Given the description of an element on the screen output the (x, y) to click on. 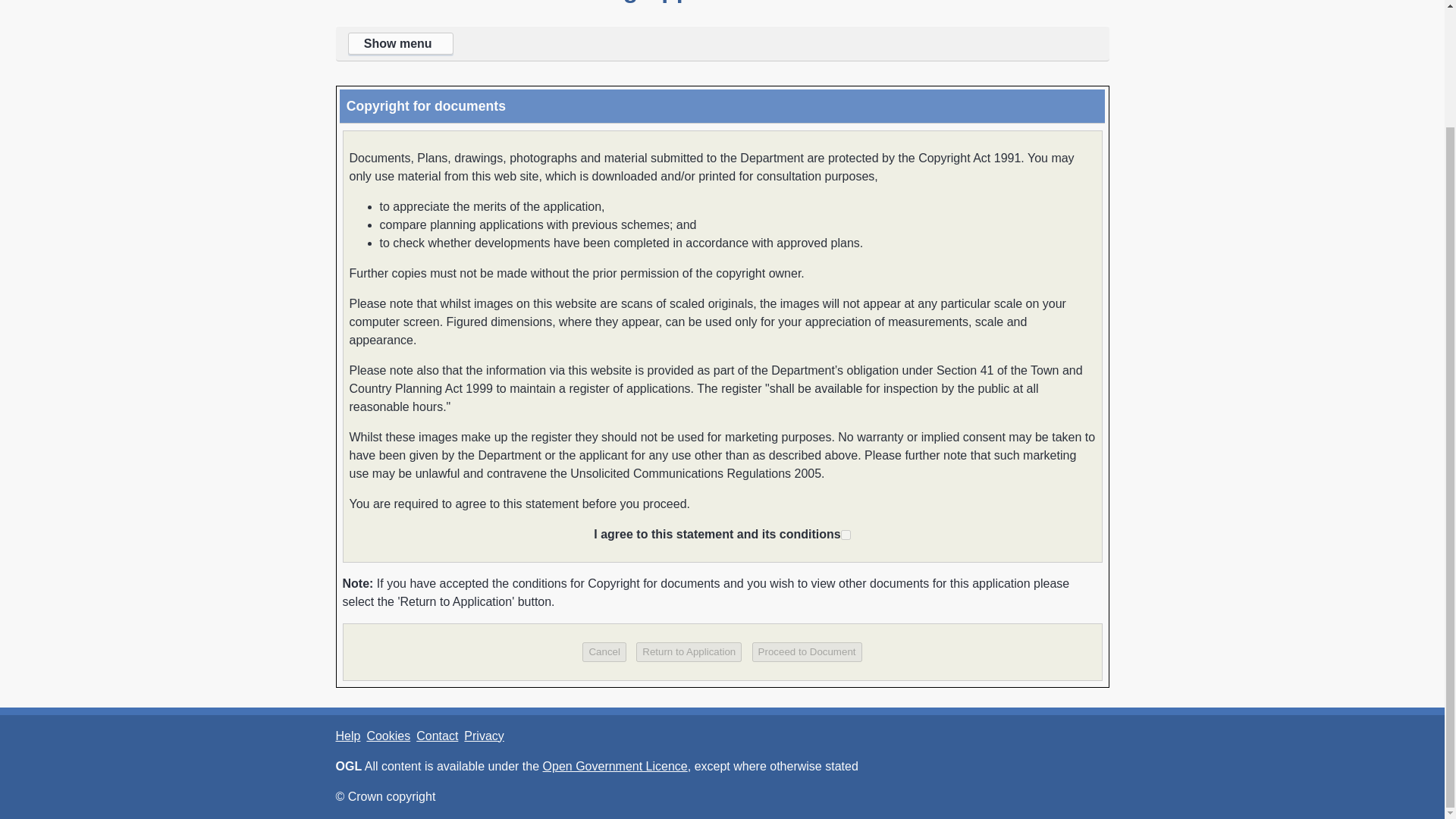
Cookies (388, 735)
Return to Application (688, 651)
Proceed to Document (806, 651)
Contact (437, 735)
on (845, 534)
Return to Application (688, 651)
Cancel (604, 651)
Open Government Licence (615, 766)
Help (346, 735)
Cancel (604, 651)
Privacy (483, 735)
Proceed to Document (806, 651)
Show menu (721, 43)
